Given the description of an element on the screen output the (x, y) to click on. 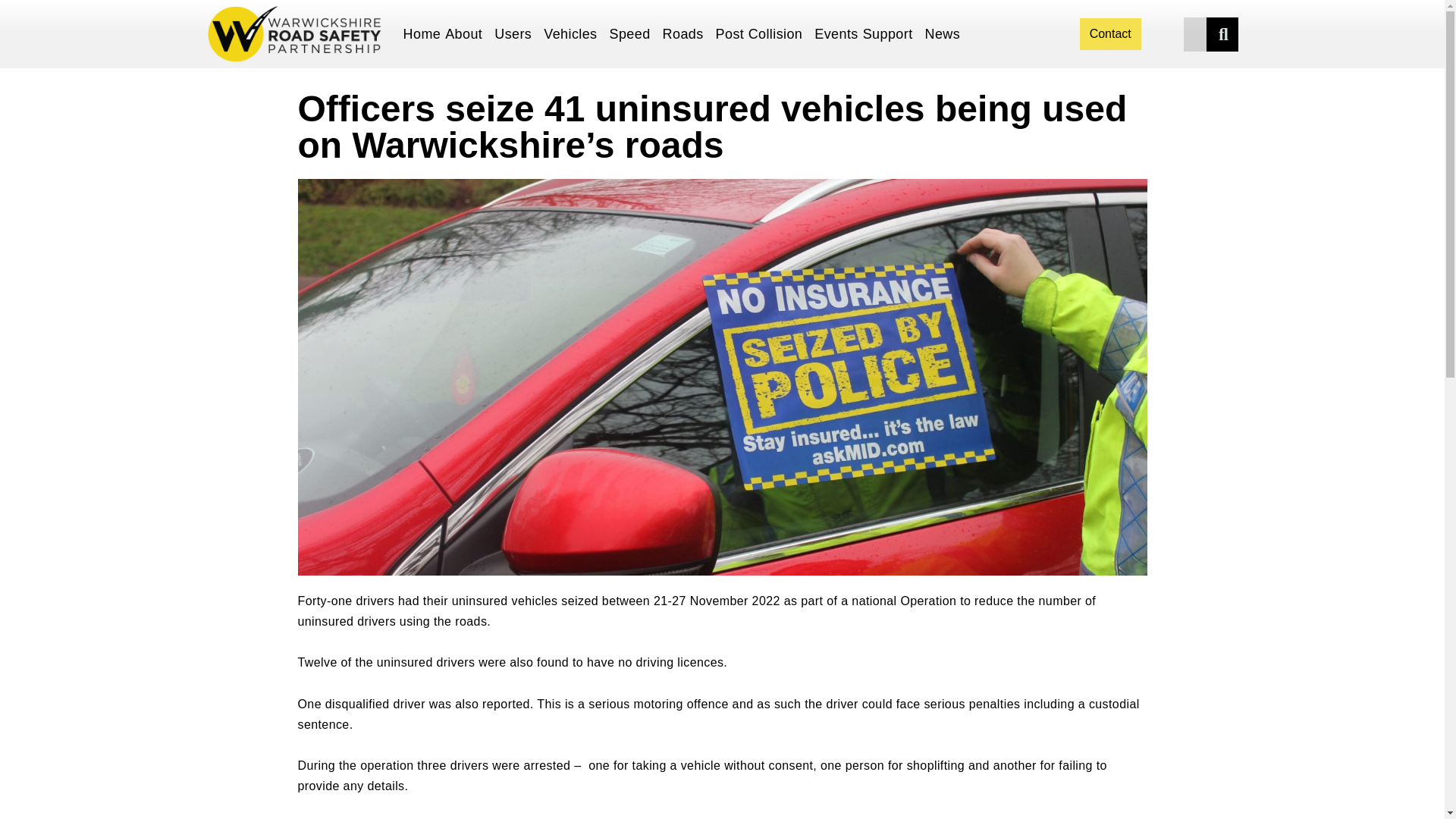
Roads (686, 34)
Vehicles (574, 34)
Search (1223, 33)
Home (422, 34)
Users (516, 34)
Post Collision (762, 34)
About (467, 34)
Speed (633, 34)
